Given the description of an element on the screen output the (x, y) to click on. 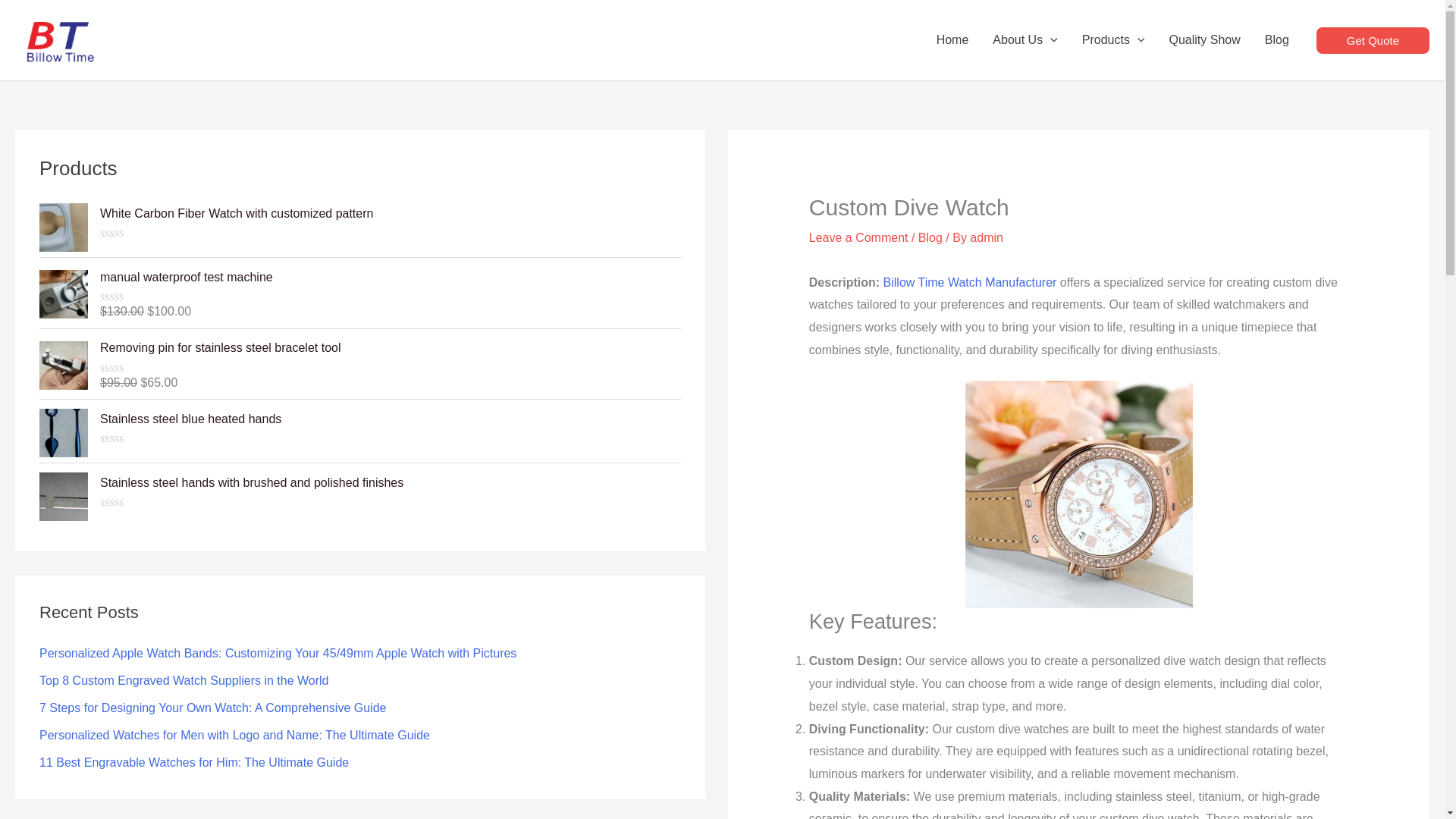
About Us (1023, 39)
Home (952, 39)
View all posts by admin (986, 237)
Products (1113, 39)
